Given the description of an element on the screen output the (x, y) to click on. 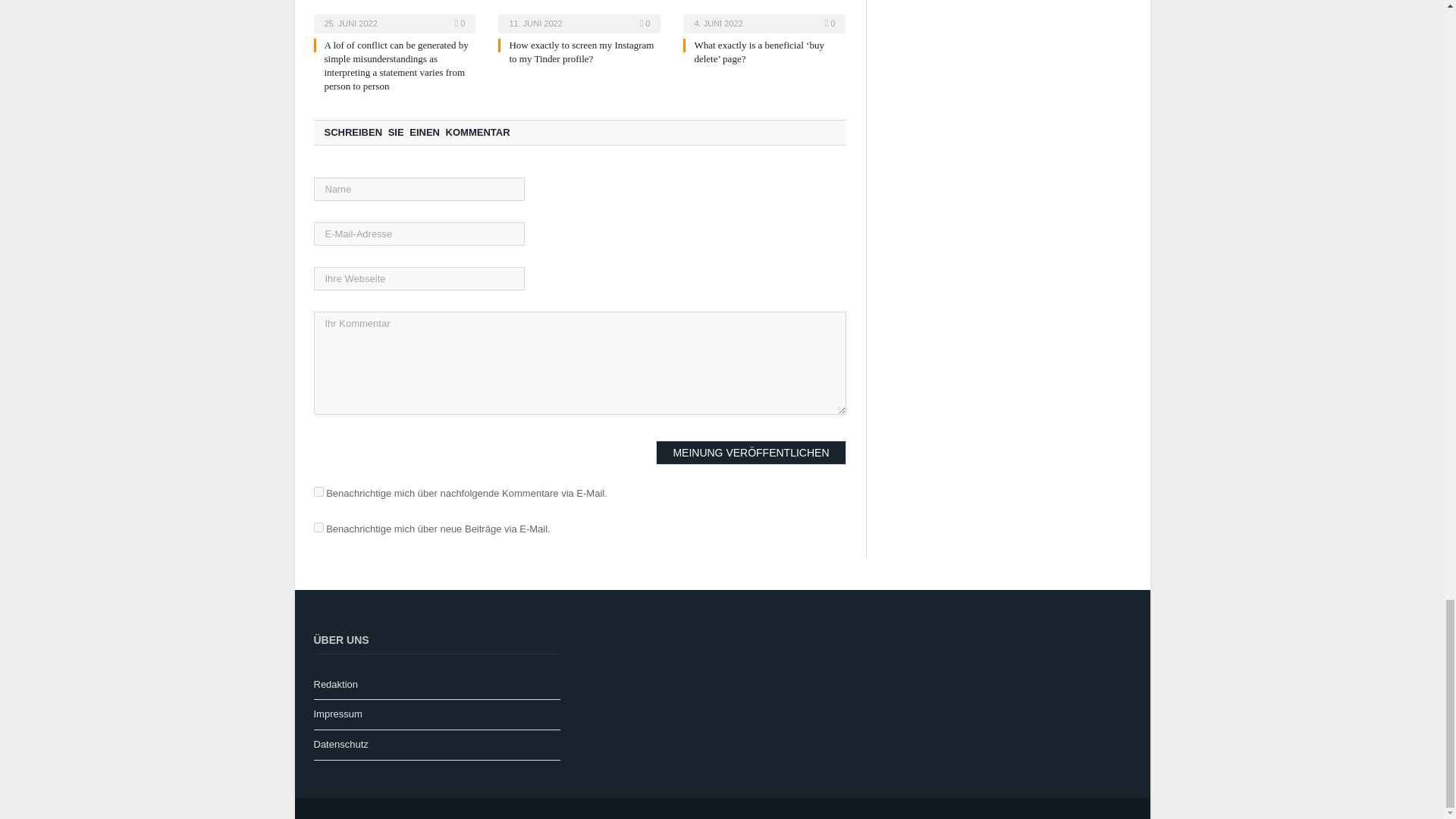
How exactly to screen my Instagram to my Tinder profile? (580, 51)
subscribe (318, 491)
subscribe (318, 527)
